Given the description of an element on the screen output the (x, y) to click on. 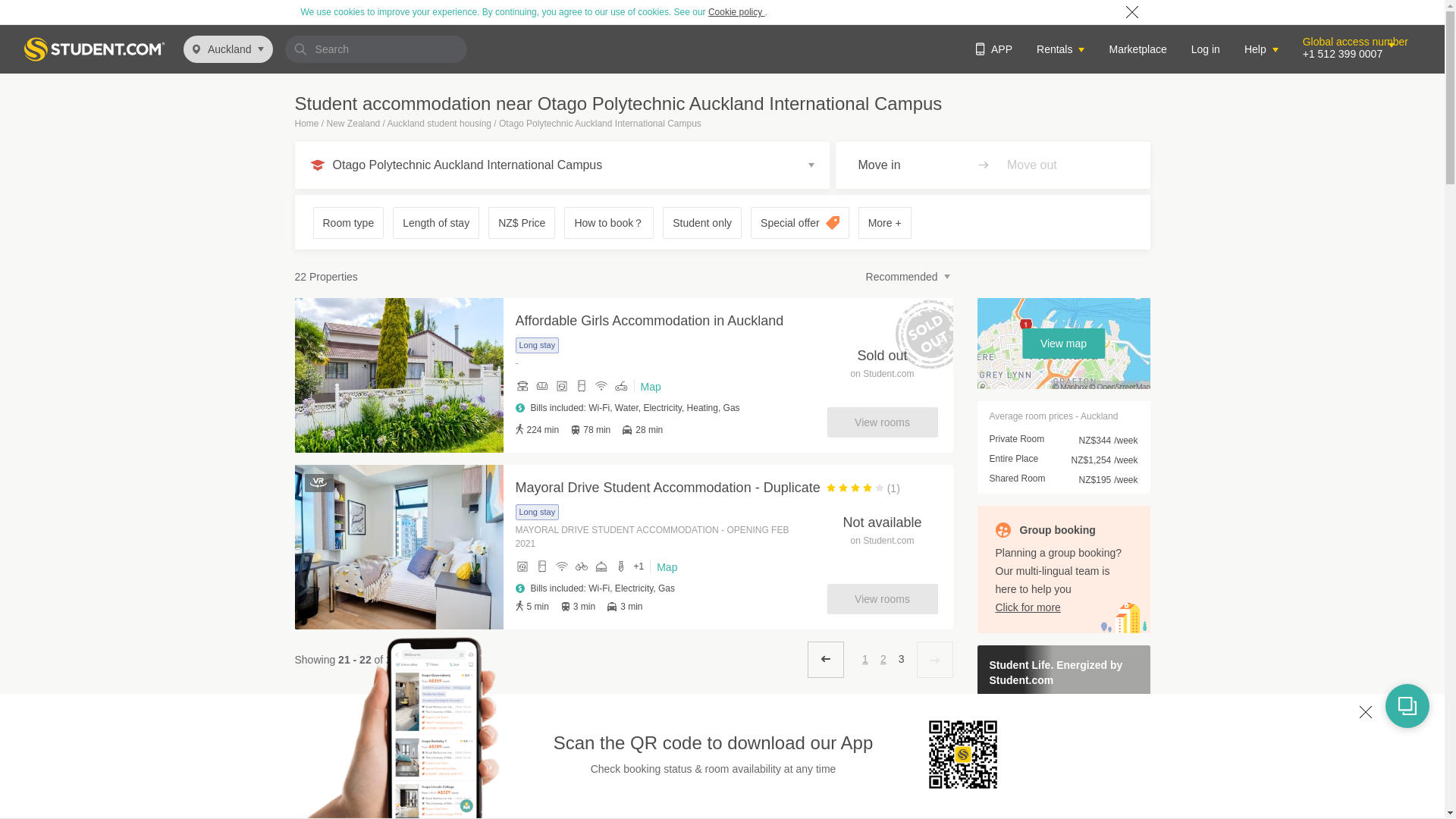
New Zealand (353, 122)
Special offer (799, 223)
Length of stay (436, 223)
Home (306, 122)
Marketplace (1136, 49)
Student only (702, 223)
Auckland student housing (439, 122)
Room type (349, 223)
Cookie policy (736, 11)
